Given the description of an element on the screen output the (x, y) to click on. 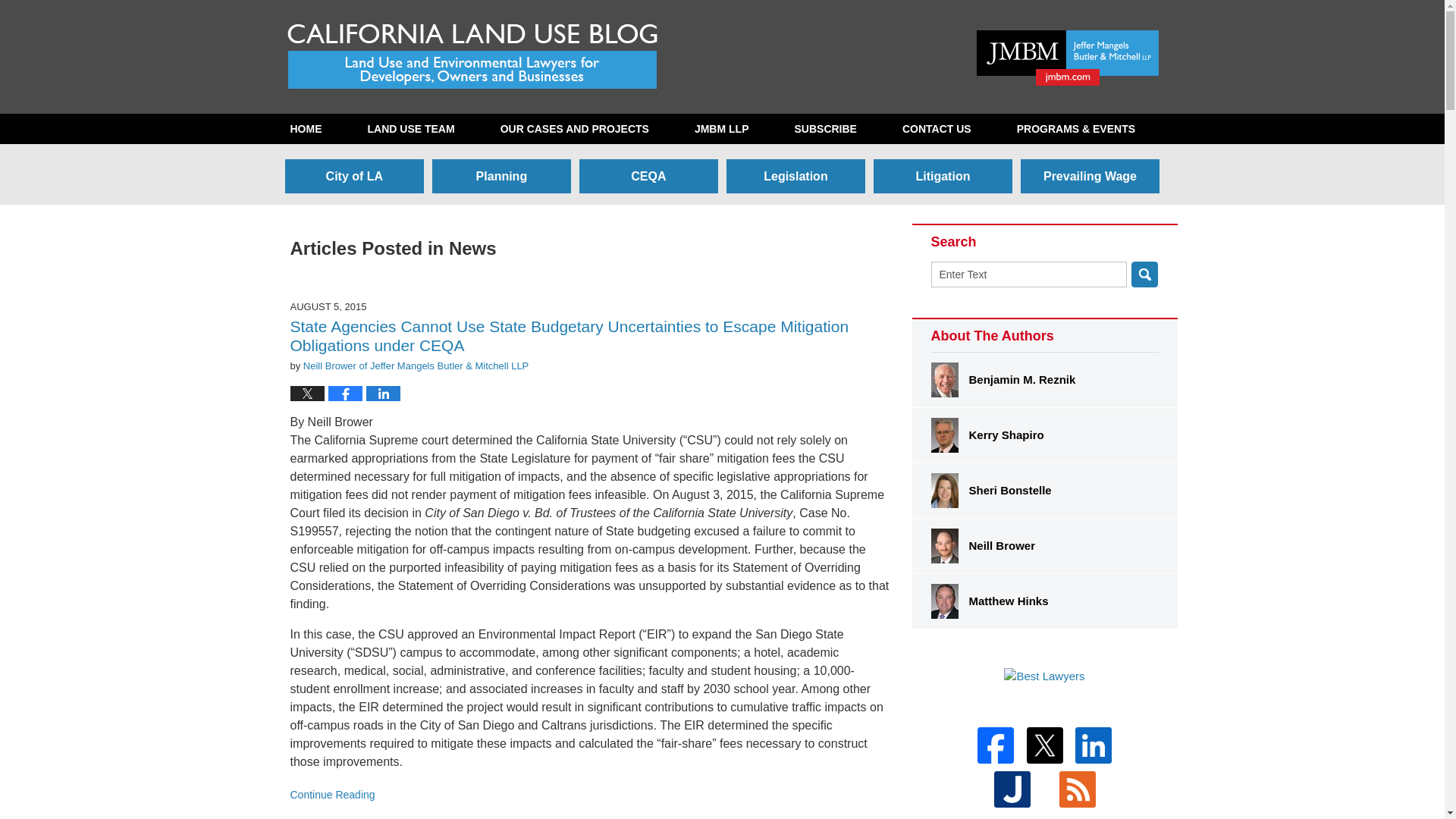
Continue Reading (588, 795)
CONTACT US (936, 128)
Litigation (942, 175)
City of LA (354, 175)
Legislation (795, 175)
CEQA (648, 175)
SUBSCRIBE (825, 128)
OUR CASES AND PROJECTS (574, 128)
Prevailing Wage (1089, 175)
Planning (501, 175)
JMBM LLP (721, 128)
LAND USE TEAM (410, 128)
California Land Use Blog (472, 55)
HOME (304, 128)
